Given the description of an element on the screen output the (x, y) to click on. 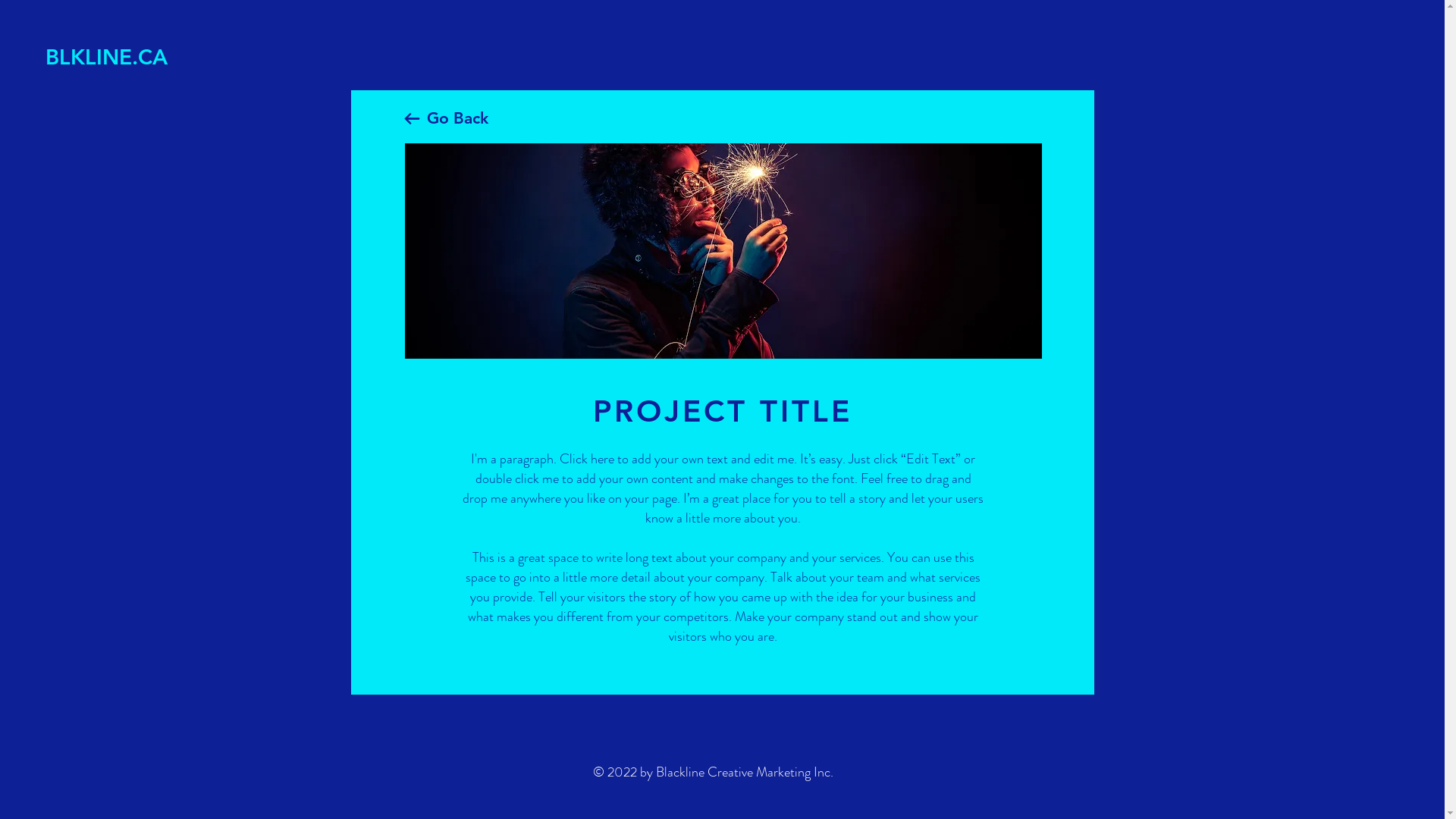
TWIPLA (Visitor Analytics) Element type: hover (1442, 4)
BLKLINE.CA Element type: text (117, 57)
Go Back Element type: text (456, 117)
